Given the description of an element on the screen output the (x, y) to click on. 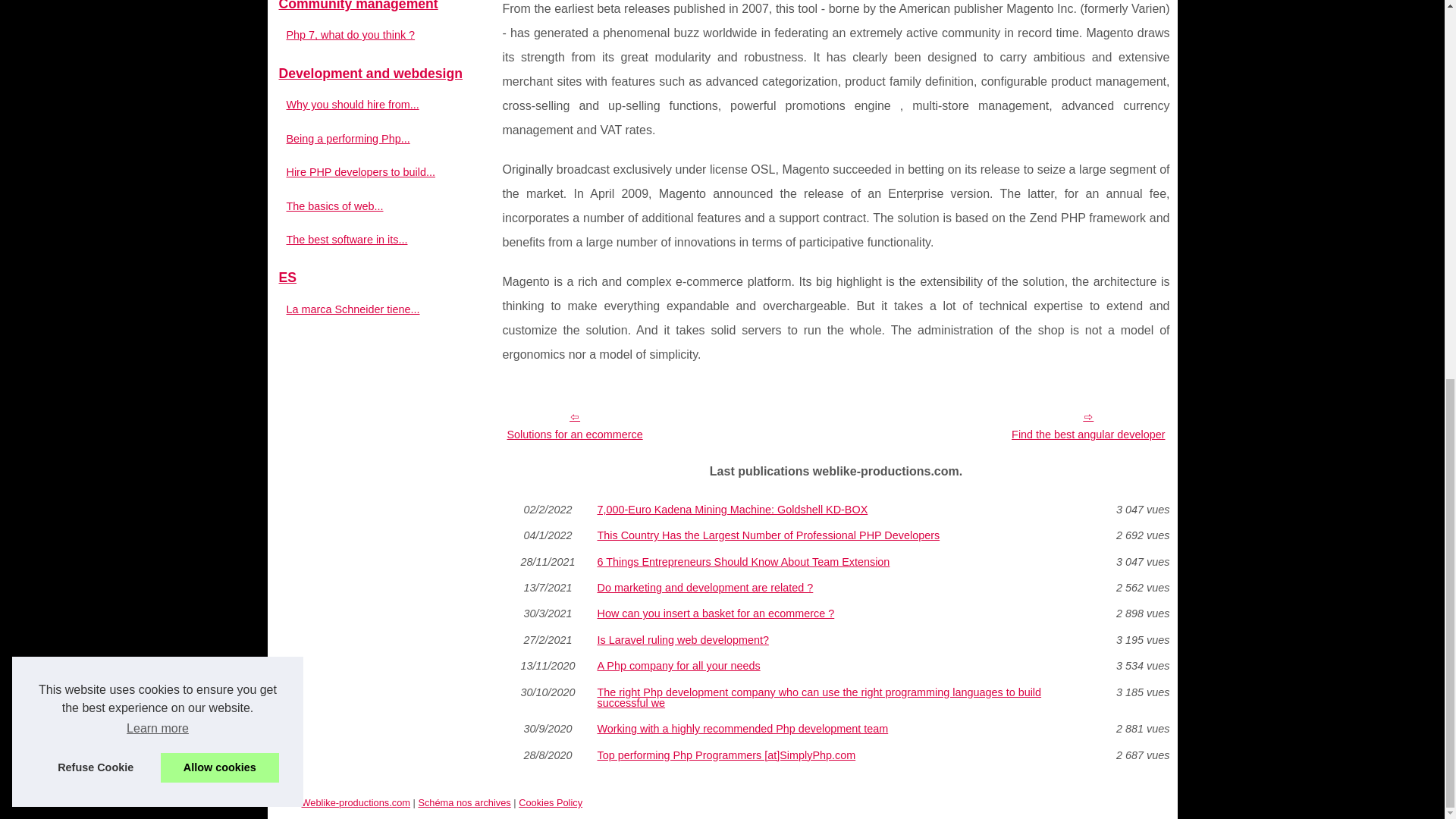
Development and webdesign (380, 73)
7,000-Euro Kadena Mining Machine: Goldshell KD-BOX (835, 509)
Do marketing and development are related ? (835, 587)
Working with a highly recommended Php development team (835, 728)
Find the best angular developer (1087, 425)
Is Laravel ruling web development? (835, 639)
6 Things Entrepreneurs Should Know About Team Extension (835, 561)
Learn more (156, 24)
Allow cookies (219, 63)
